Given the description of an element on the screen output the (x, y) to click on. 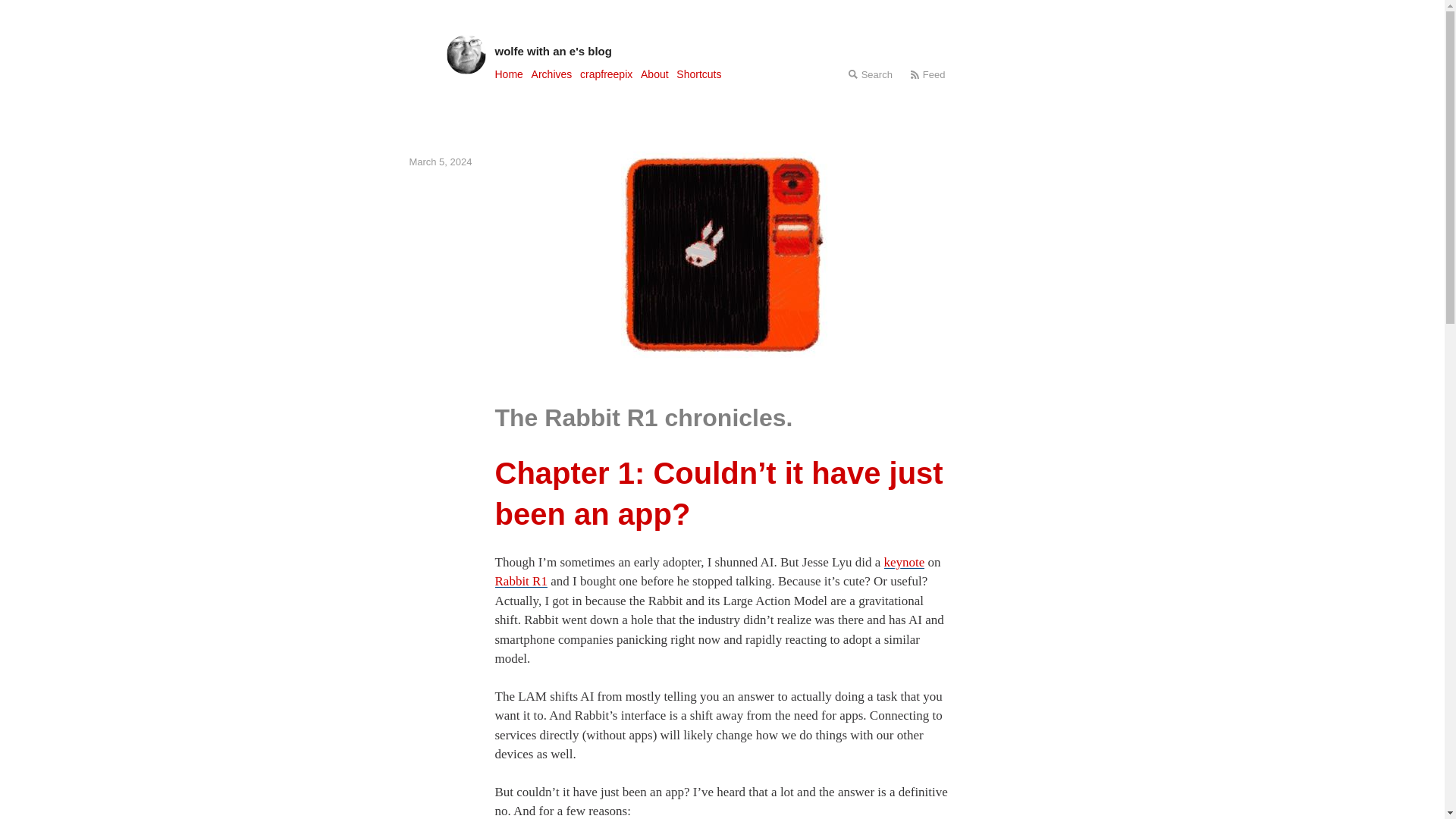
Home (508, 73)
Archives (551, 73)
Shortcuts (698, 73)
Search wolfe with an e's blog (869, 74)
Search (869, 74)
crapfreepix (605, 73)
Home (508, 73)
Sketch of R1 Rabbit (721, 252)
wolfe with an e's blog (722, 51)
RSS feed for  wolfe with an e's blog (927, 74)
